Given the description of an element on the screen output the (x, y) to click on. 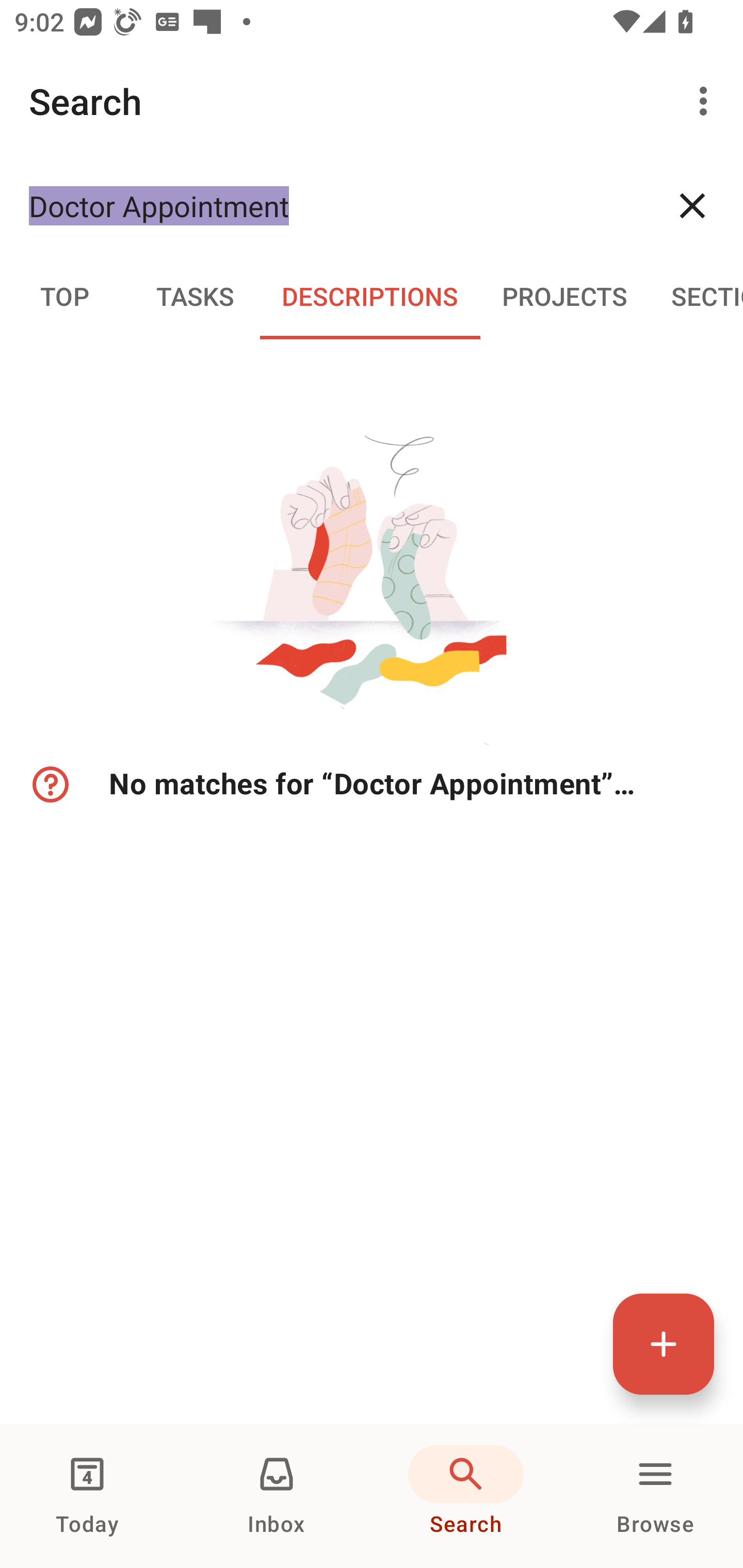
Search More options (371, 100)
More options (706, 101)
Doctor Appointment (335, 205)
Clear (692, 205)
Top TOP (65, 295)
Tasks TASKS (195, 295)
Projects PROJECTS (564, 295)
Learn how to refine your search (48, 784)
Quick add (663, 1343)
Today (87, 1495)
Inbox (276, 1495)
Browse (655, 1495)
